Given the description of an element on the screen output the (x, y) to click on. 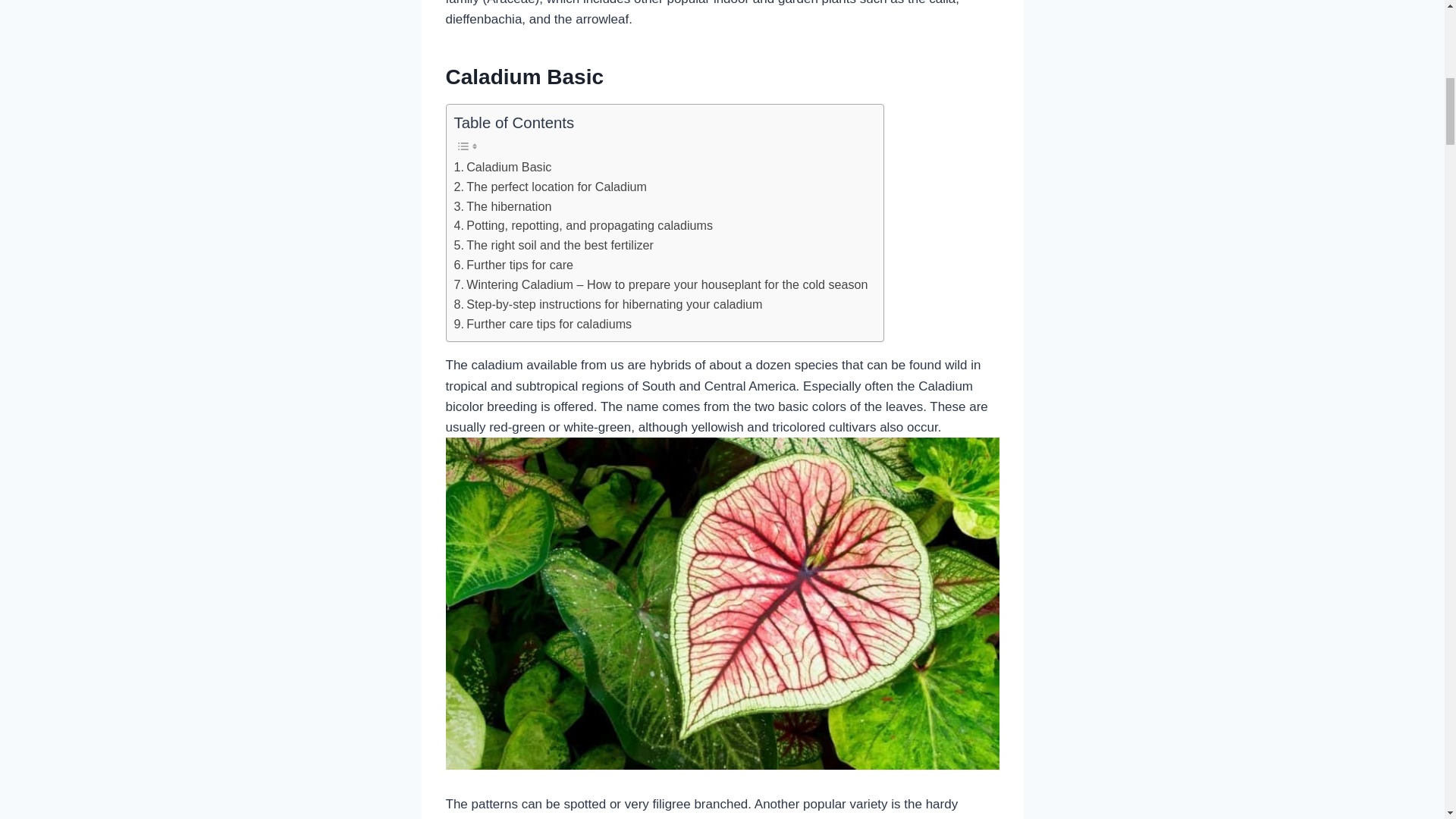
The right soil and the best fertilizer (552, 245)
Potting, repotting, and propagating caladiums (582, 225)
Caladium Basic (501, 167)
Step-by-step instructions for hibernating your caladium (606, 304)
The right soil and the best fertilizer (552, 245)
The hibernation (501, 207)
Step-by-step instructions for hibernating your caladium (606, 304)
The hibernation (501, 207)
The perfect location for Caladium (549, 187)
Further care tips for caladiums (541, 324)
